Given the description of an element on the screen output the (x, y) to click on. 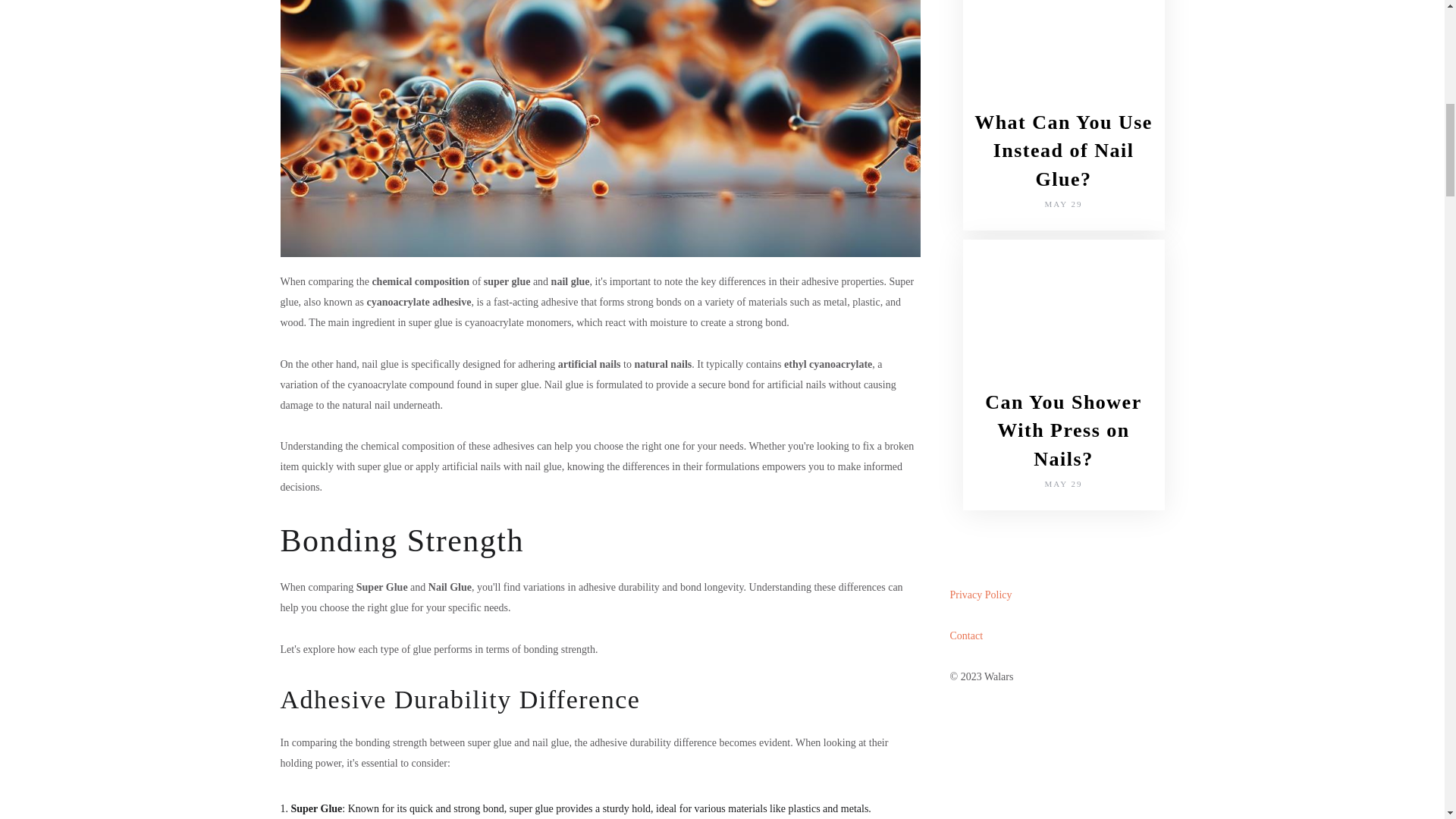
Privacy Policy (980, 594)
Contact (965, 635)
Can You Shower With Press on Nails? (1063, 430)
What Can You Use Instead of Nail Glue? (1063, 150)
